Given the description of an element on the screen output the (x, y) to click on. 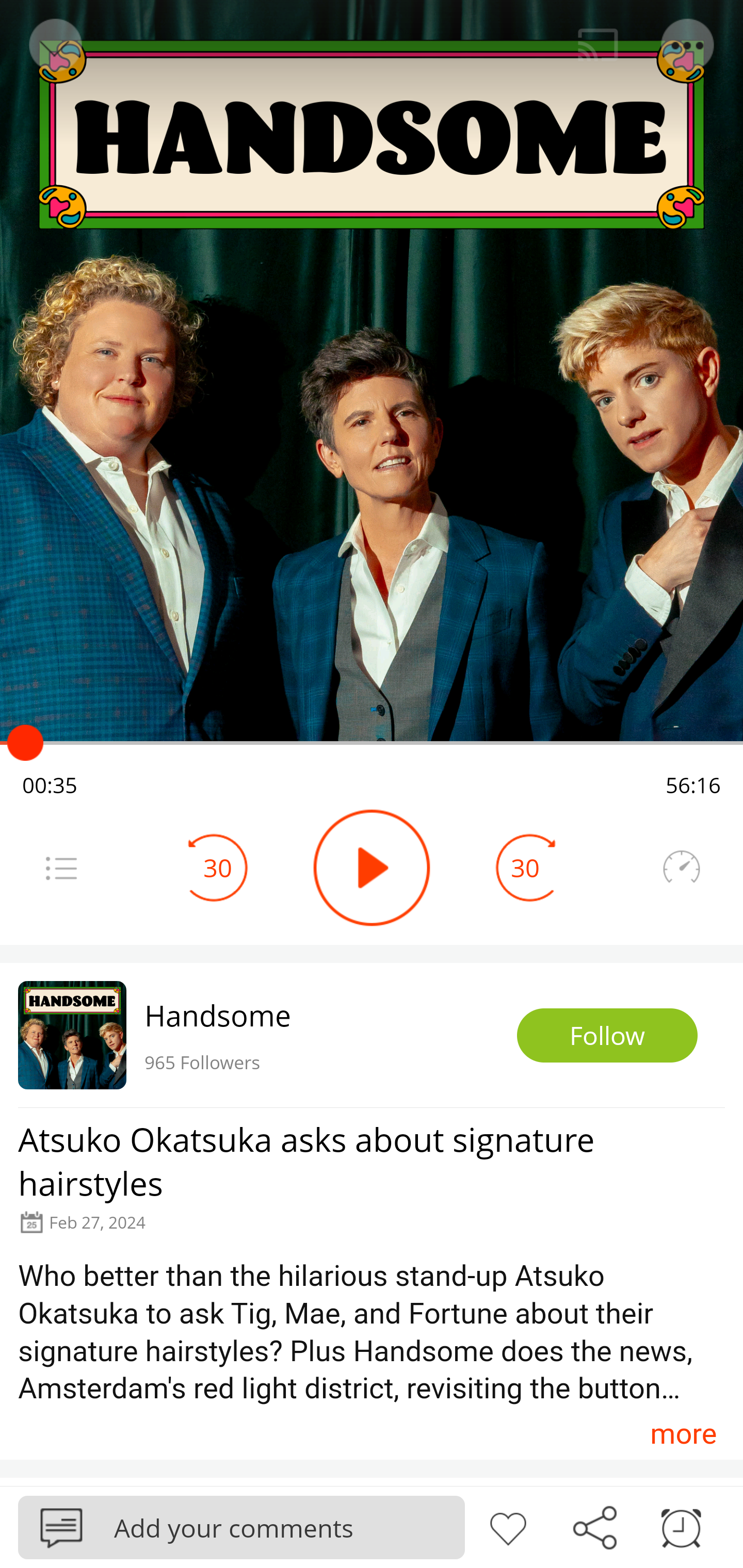
Back (53, 45)
Cast. Disconnected (597, 45)
Menu (688, 45)
Play (371, 867)
30 Seek Backward (217, 867)
30 Seek Forward (525, 867)
Menu (60, 867)
Speedometer (681, 867)
Handsome 965 Followers Follow (371, 1034)
Follow (607, 1035)
more (682, 1432)
Like (508, 1526)
Share (594, 1526)
Sleep timer (681, 1526)
Podbean Add your comments (241, 1526)
